Given the description of an element on the screen output the (x, y) to click on. 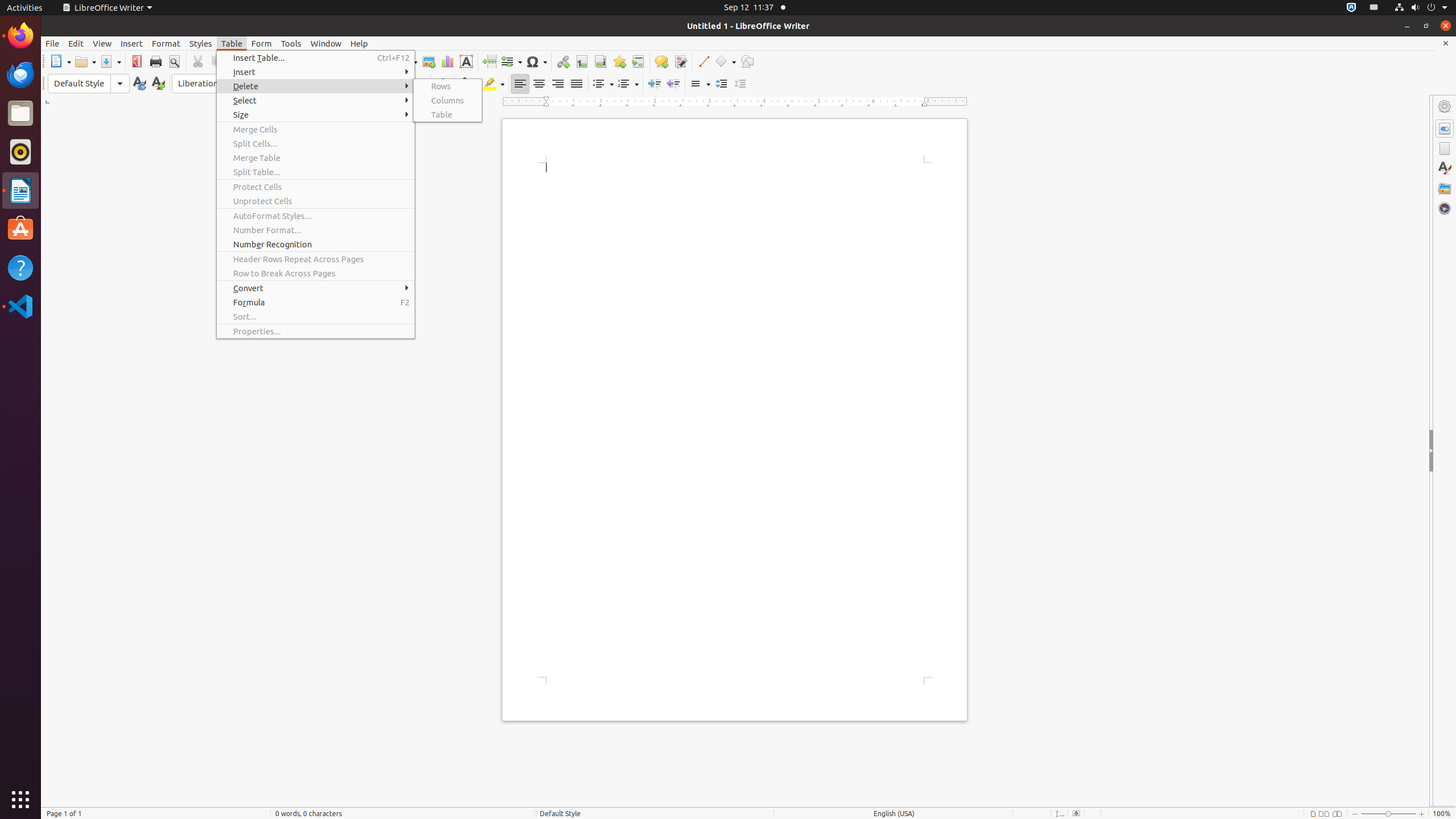
Formula Element type: menu-item (315, 302)
Styles Element type: menu (200, 43)
Comment Element type: push-button (660, 61)
Page Element type: radio-button (1444, 148)
Print Element type: push-button (155, 61)
